Given the description of an element on the screen output the (x, y) to click on. 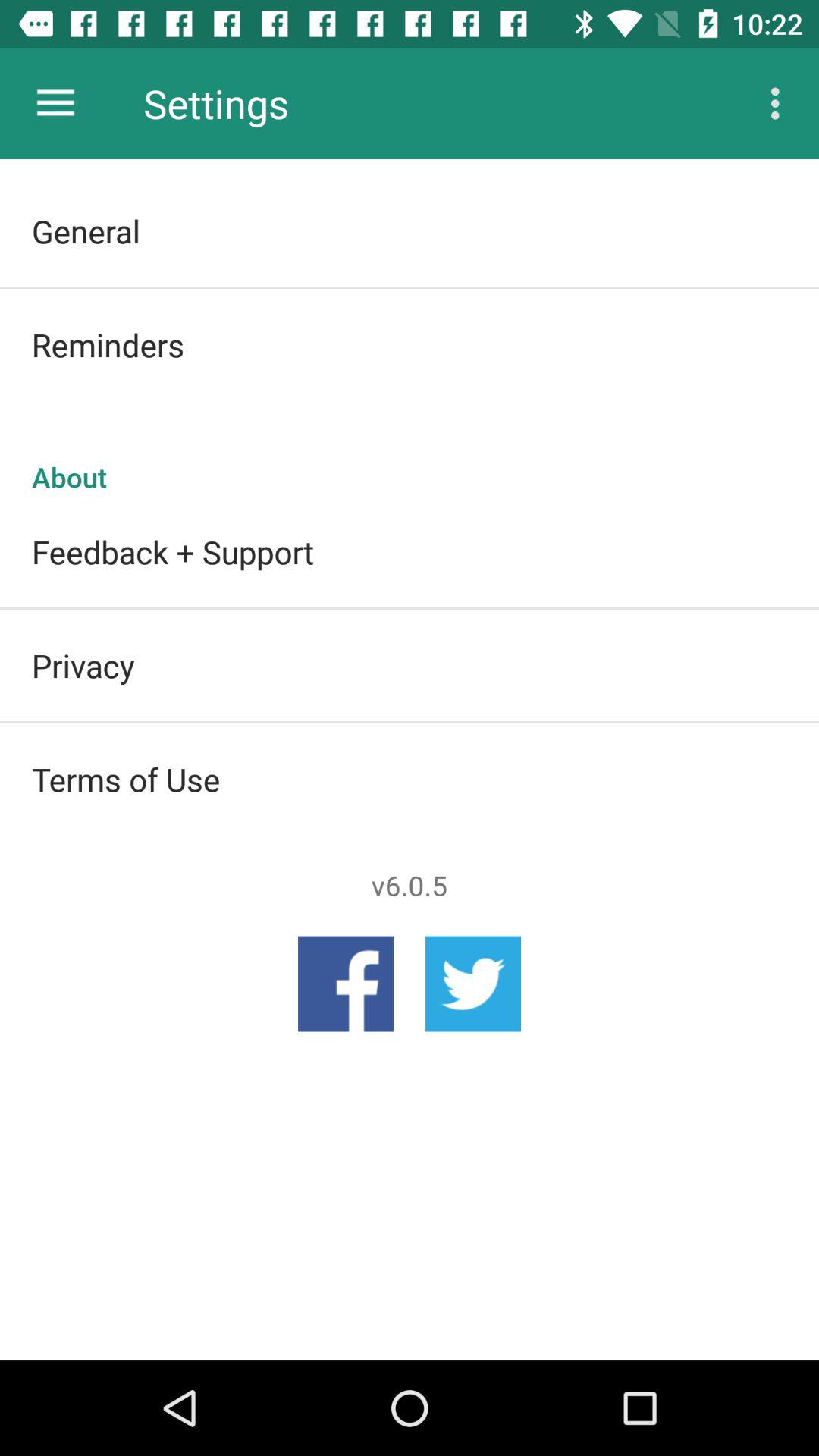
share on twitter (472, 983)
